Given the description of an element on the screen output the (x, y) to click on. 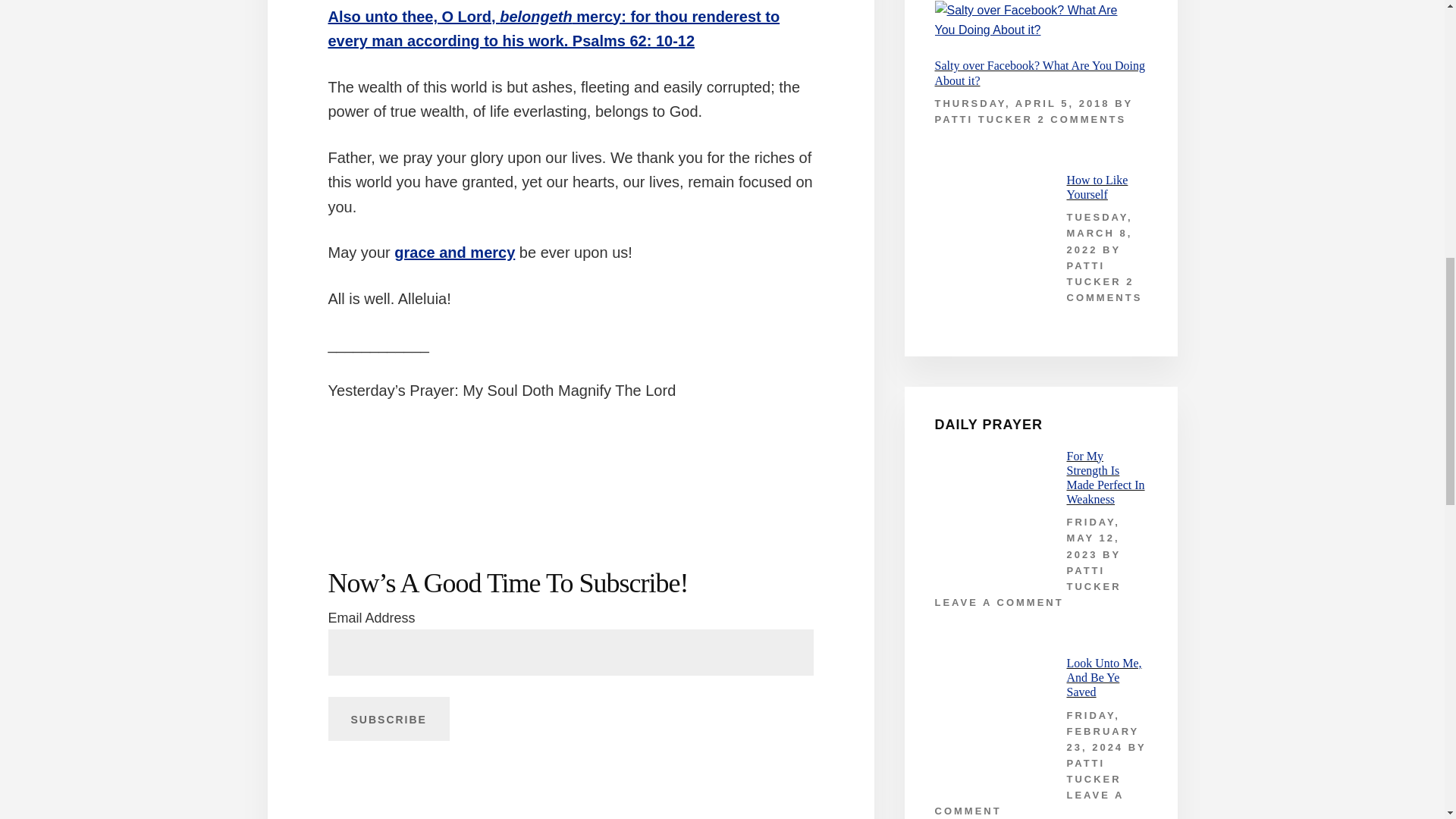
PATTI TUCKER (983, 119)
PATTI TUCKER (1093, 578)
LEAVE A COMMENT (1028, 802)
LEAVE A COMMENT (998, 602)
PATTI TUCKER (1093, 273)
PATTI TUCKER (1093, 770)
Subscribe (387, 718)
How to Like Yourself (1095, 186)
For My Strength Is Made Perfect In Weakness (1104, 477)
2 COMMENTS (1082, 119)
grace and mercy (454, 252)
Salty over Facebook? What Are You Doing About it? (1039, 72)
Look Unto Me, And Be Ye Saved (1103, 677)
2 COMMENTS (1103, 289)
